Given the description of an element on the screen output the (x, y) to click on. 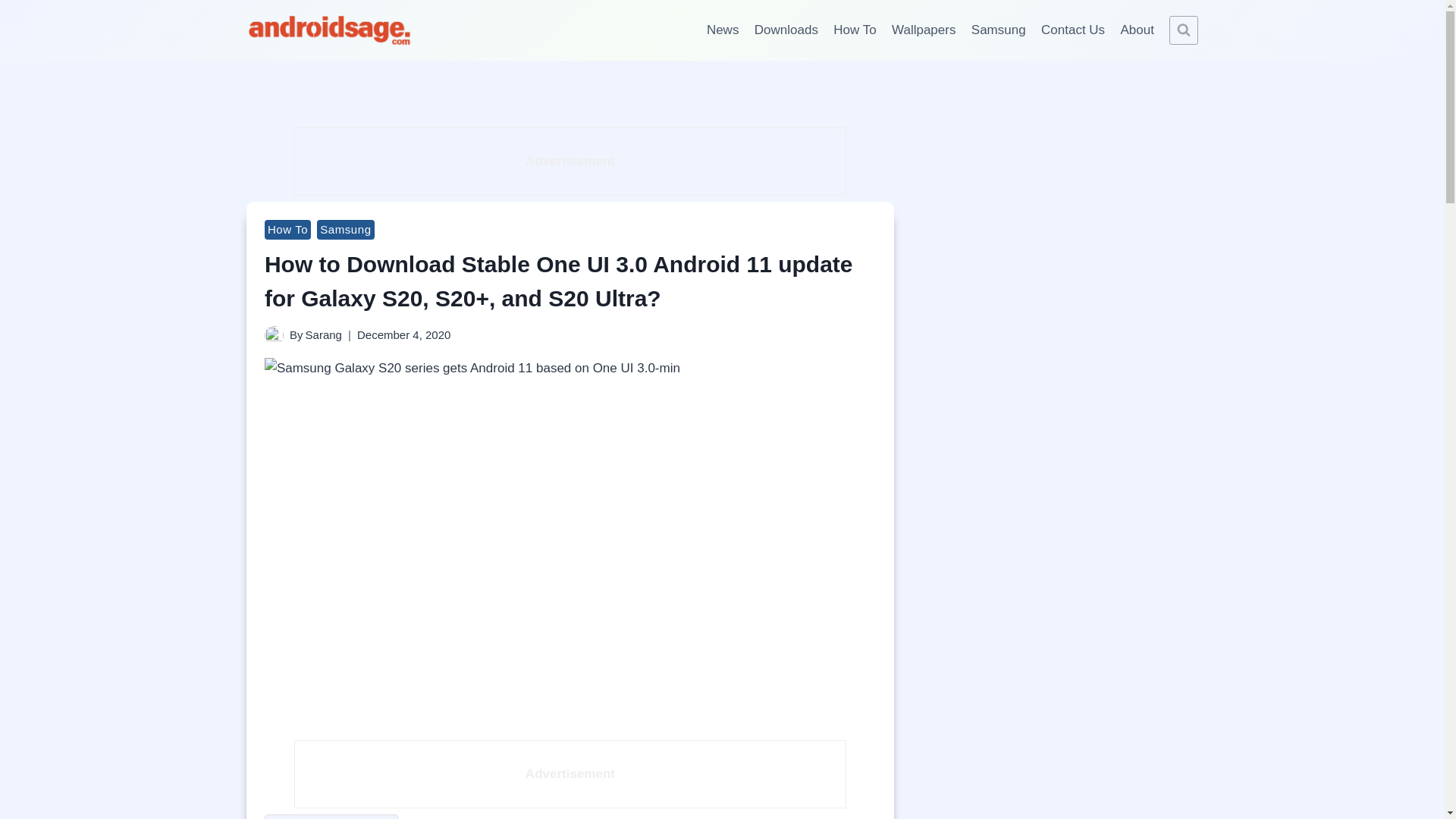
About (1136, 30)
News (722, 30)
Samsung (998, 30)
Downloads (785, 30)
Samsung (345, 229)
Sarang (323, 334)
Contact Us (1072, 30)
Wallpapers (923, 30)
How To (854, 30)
How To (287, 229)
